Given the description of an element on the screen output the (x, y) to click on. 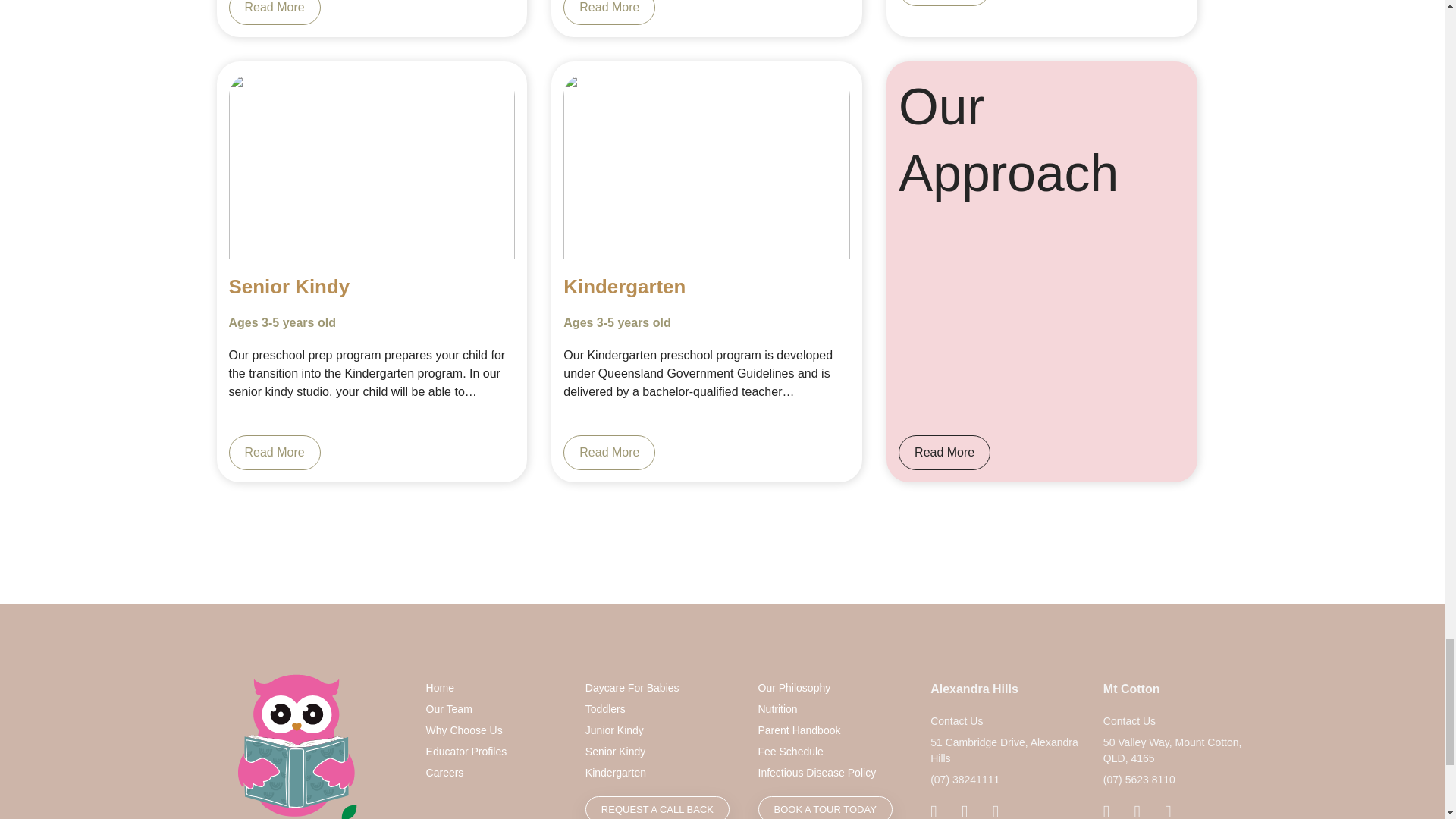
Educator Profiles (494, 751)
Why Choose Us (494, 730)
Home (494, 688)
REQUEST A CALL BACK (657, 807)
Senior Kindy (660, 751)
Kindergarten (660, 772)
Read More (944, 452)
Read More (274, 12)
Read More (609, 12)
Read More (609, 452)
